Given the description of an element on the screen output the (x, y) to click on. 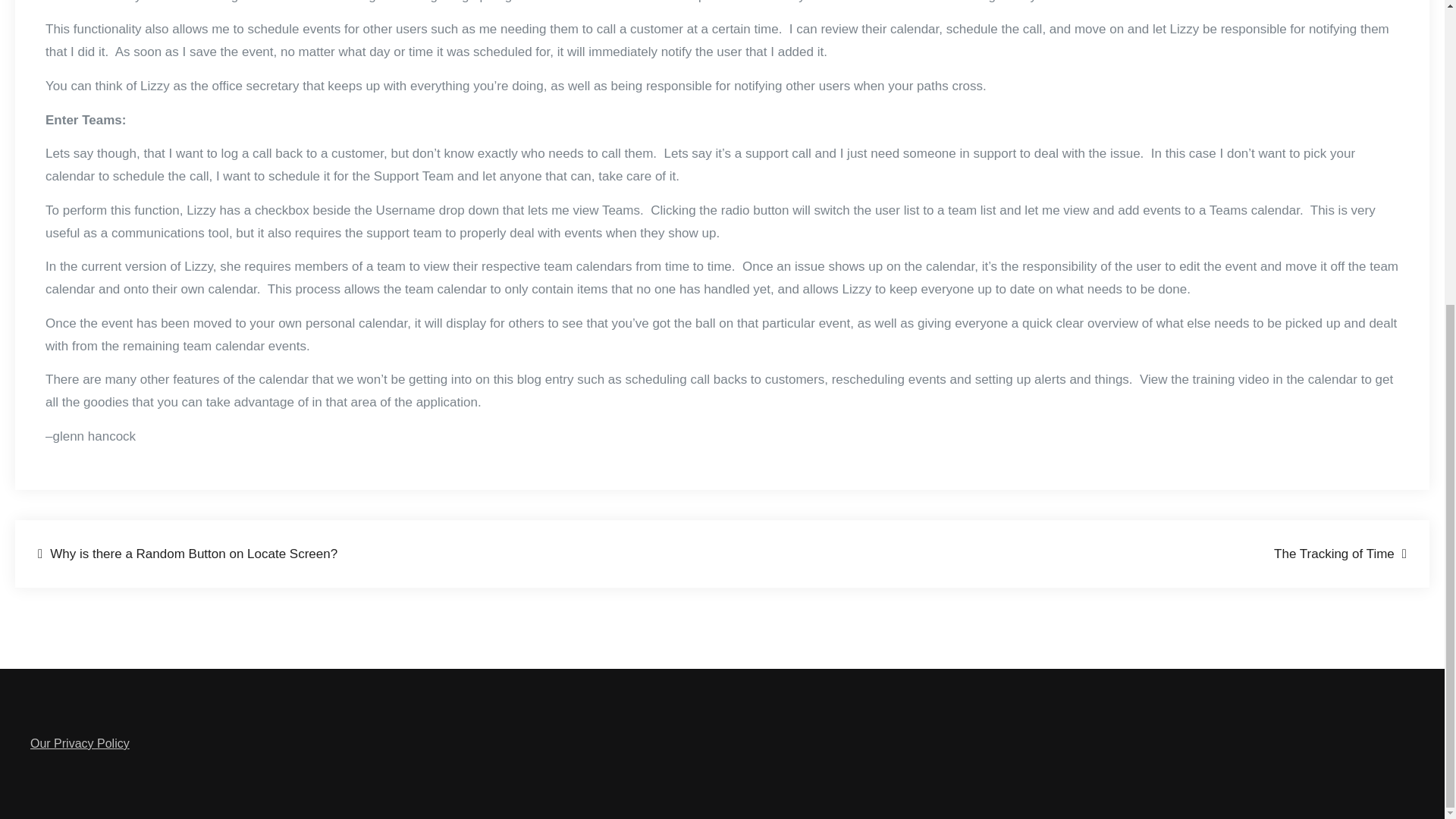
Why is there a Random Button on Locate Screen? (187, 553)
Our Privacy Policy (79, 743)
The Tracking of Time (1340, 553)
